Given the description of an element on the screen output the (x, y) to click on. 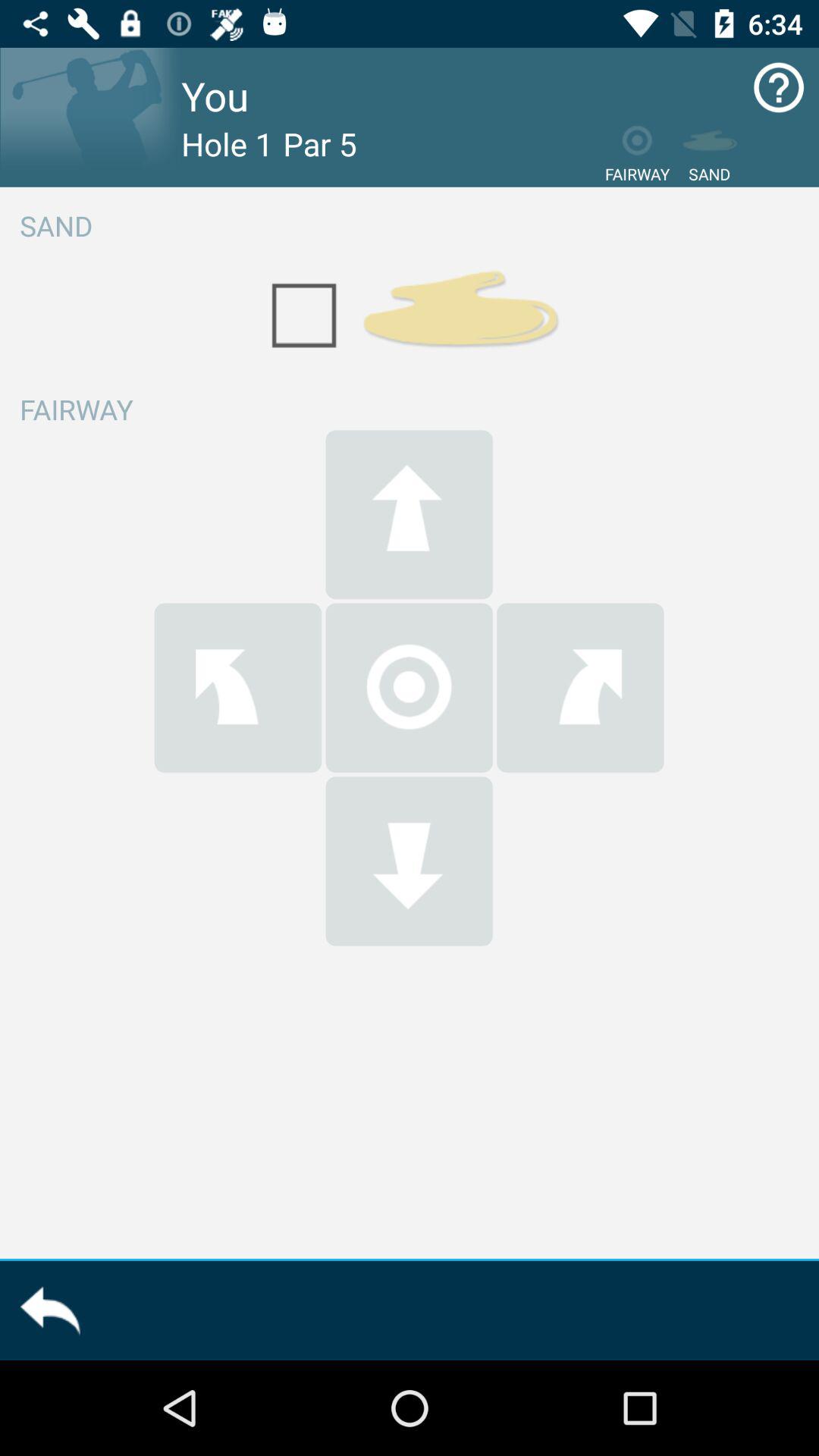
click here for help (778, 87)
